Given the description of an element on the screen output the (x, y) to click on. 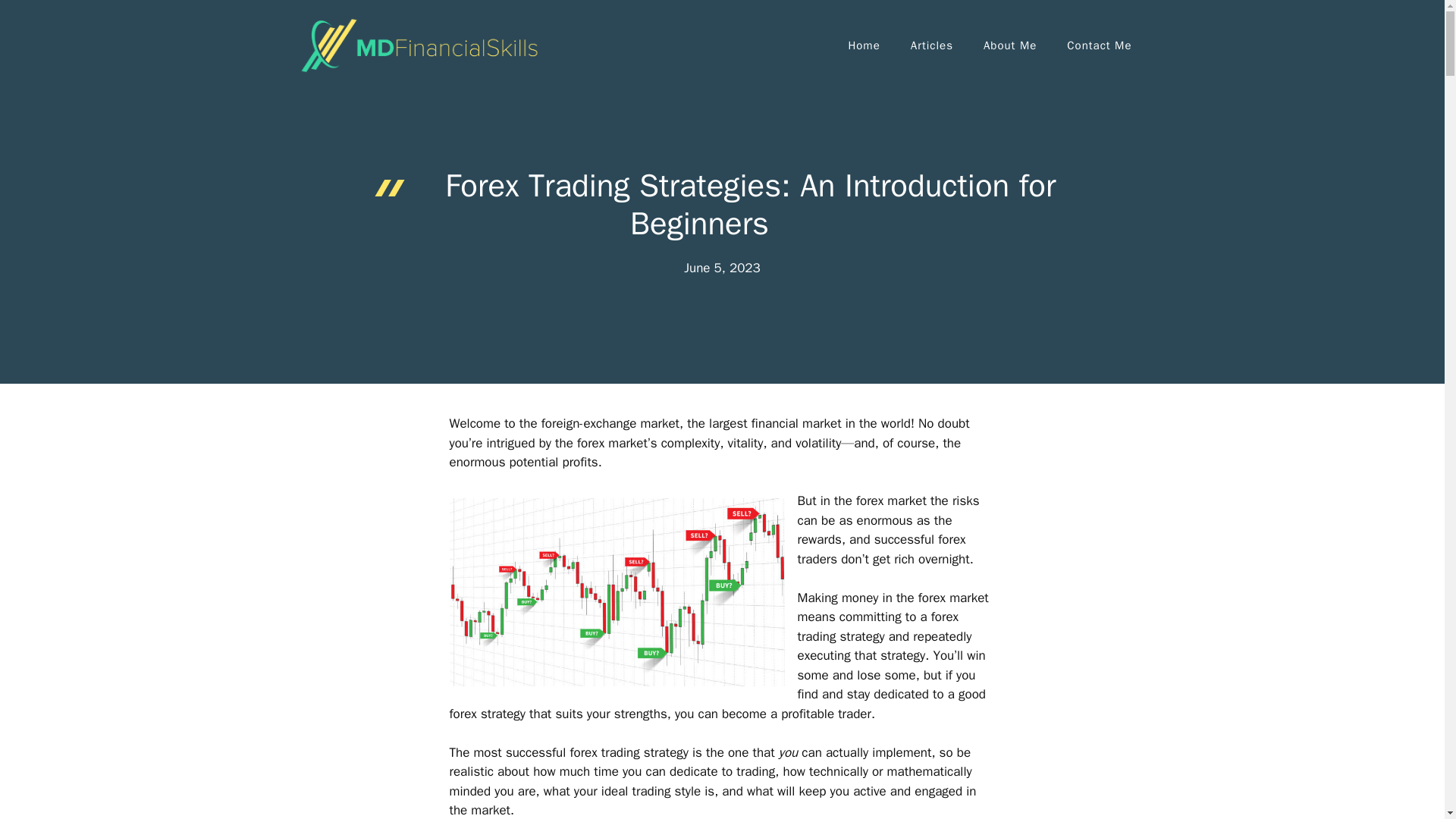
Contact Me (1099, 44)
About Me (1009, 44)
Articles (931, 44)
Home (863, 44)
